Given the description of an element on the screen output the (x, y) to click on. 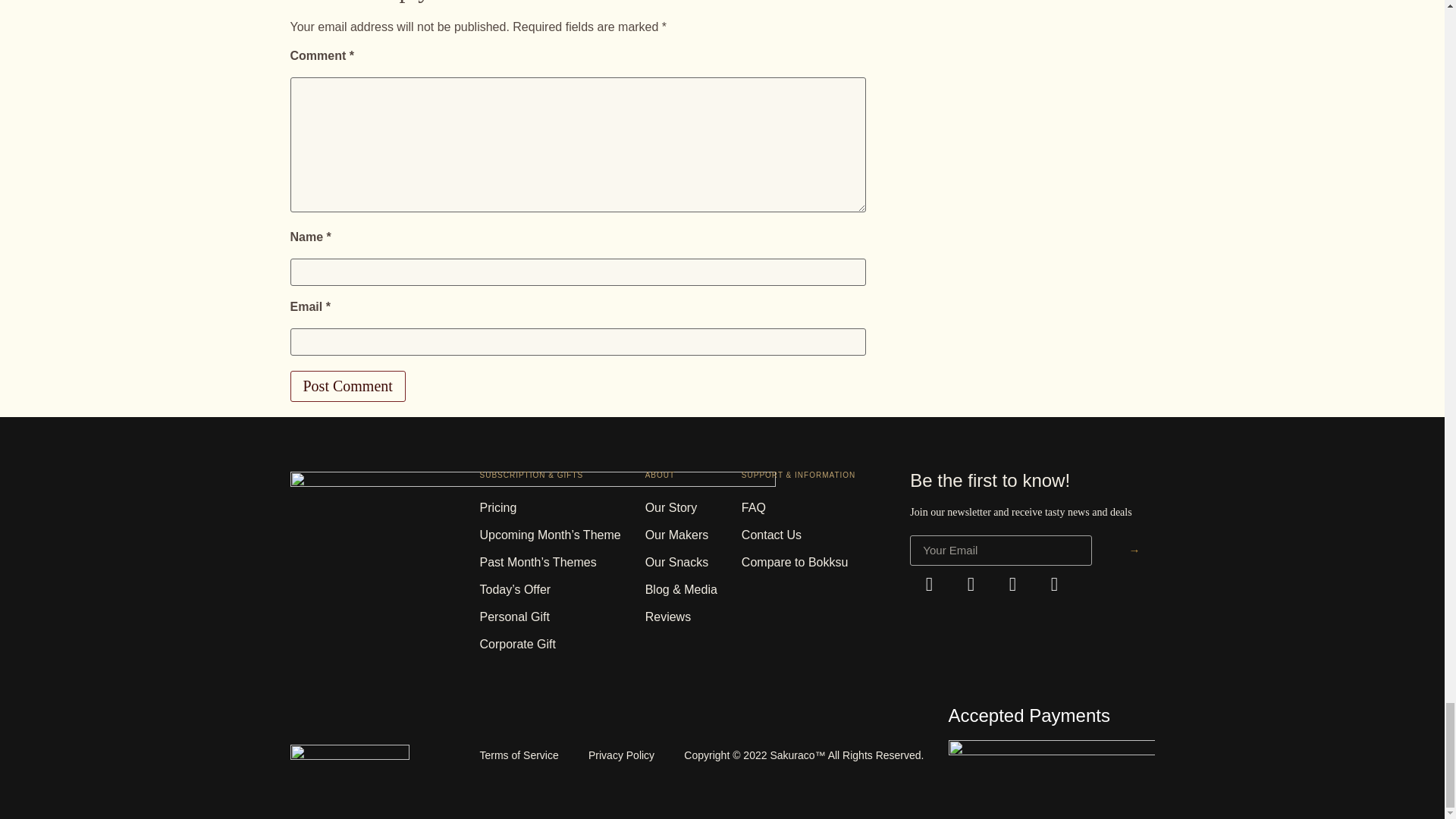
Post Comment (346, 386)
